Given the description of an element on the screen output the (x, y) to click on. 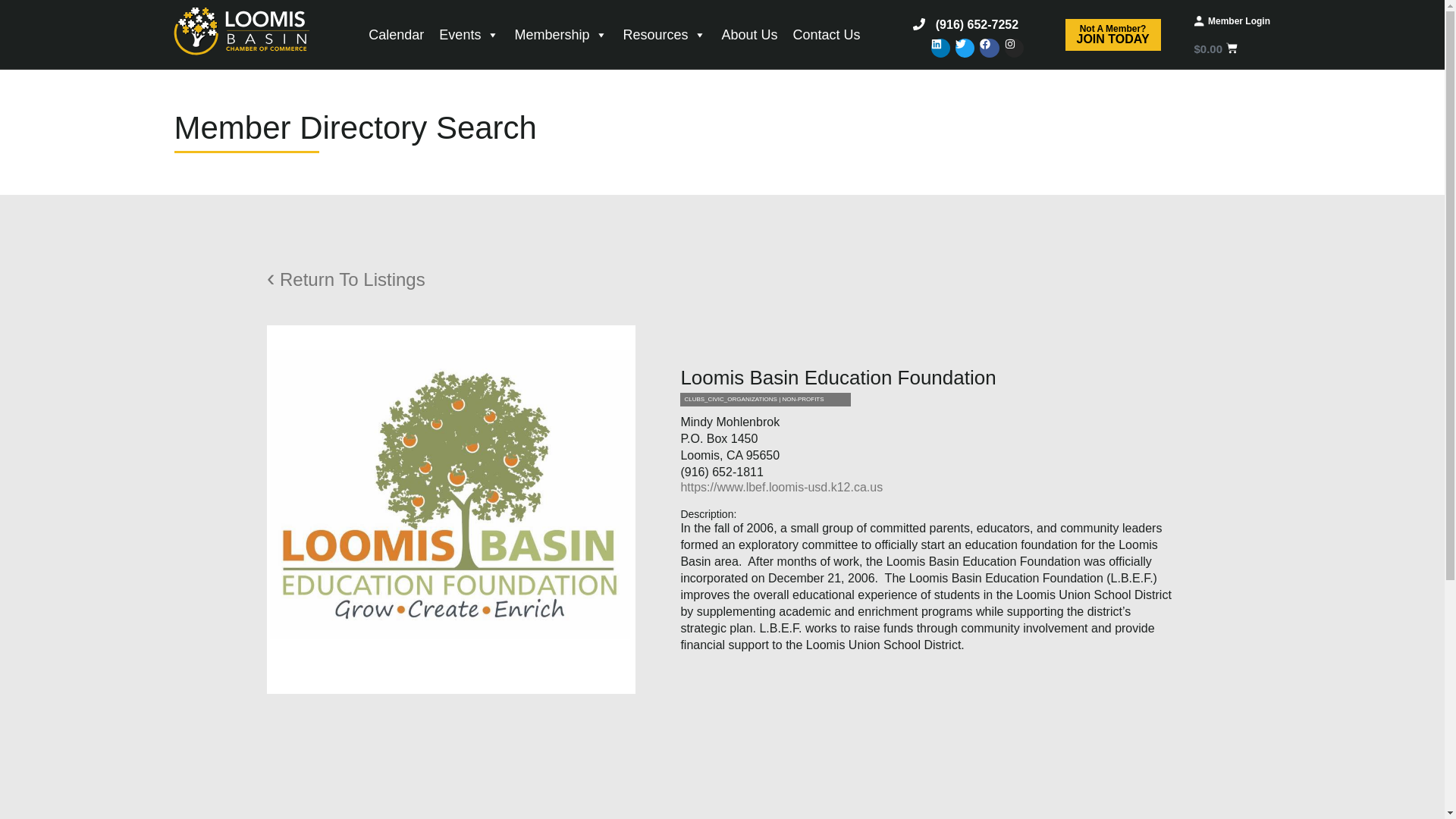
About Us (1113, 34)
Contact Us (748, 34)
Membership (826, 34)
Resources (560, 34)
Member Login (663, 34)
Calendar (1238, 20)
Events (395, 34)
